Given the description of an element on the screen output the (x, y) to click on. 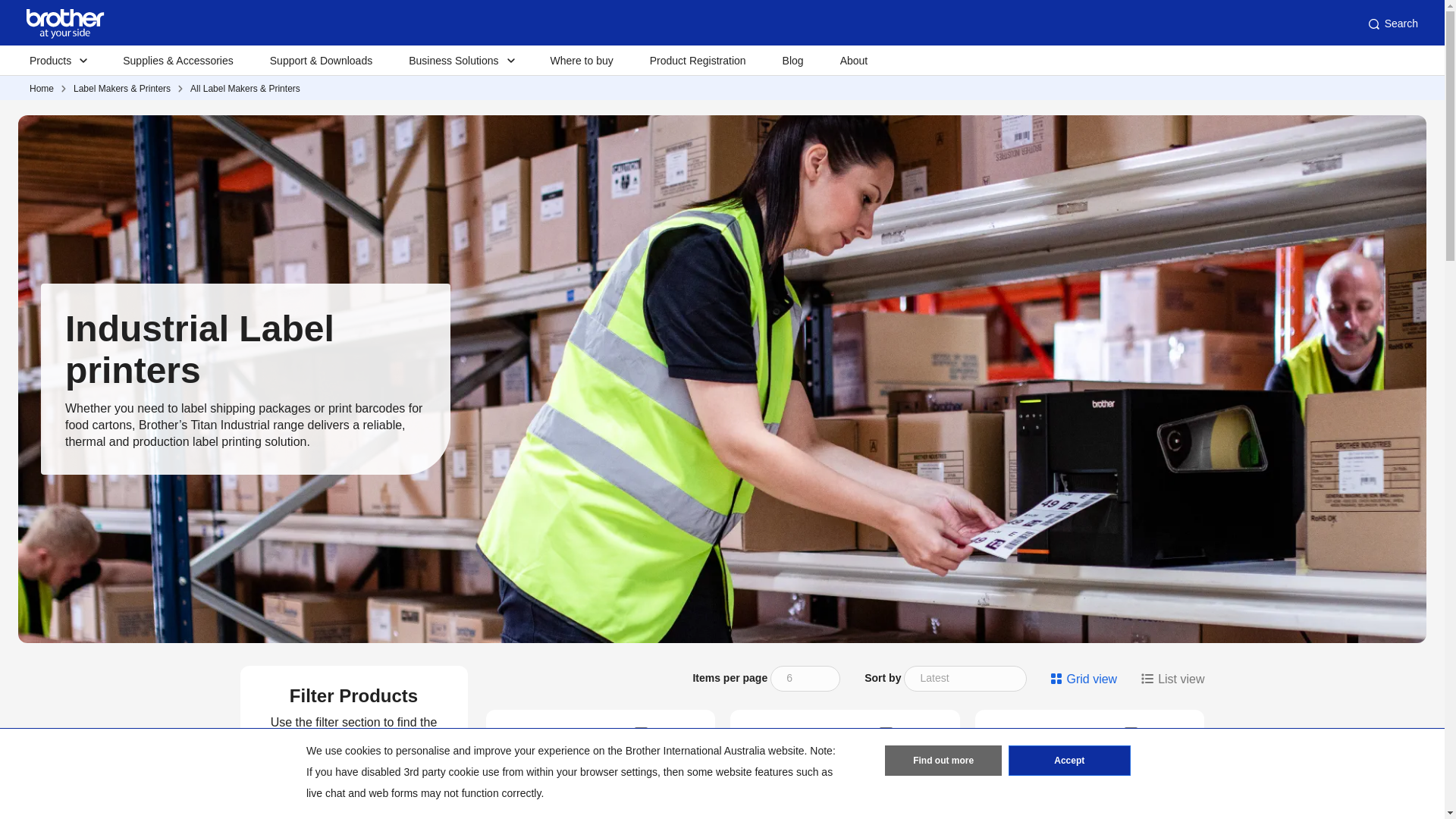
Search (1392, 23)
Home (41, 88)
